Given the description of an element on the screen output the (x, y) to click on. 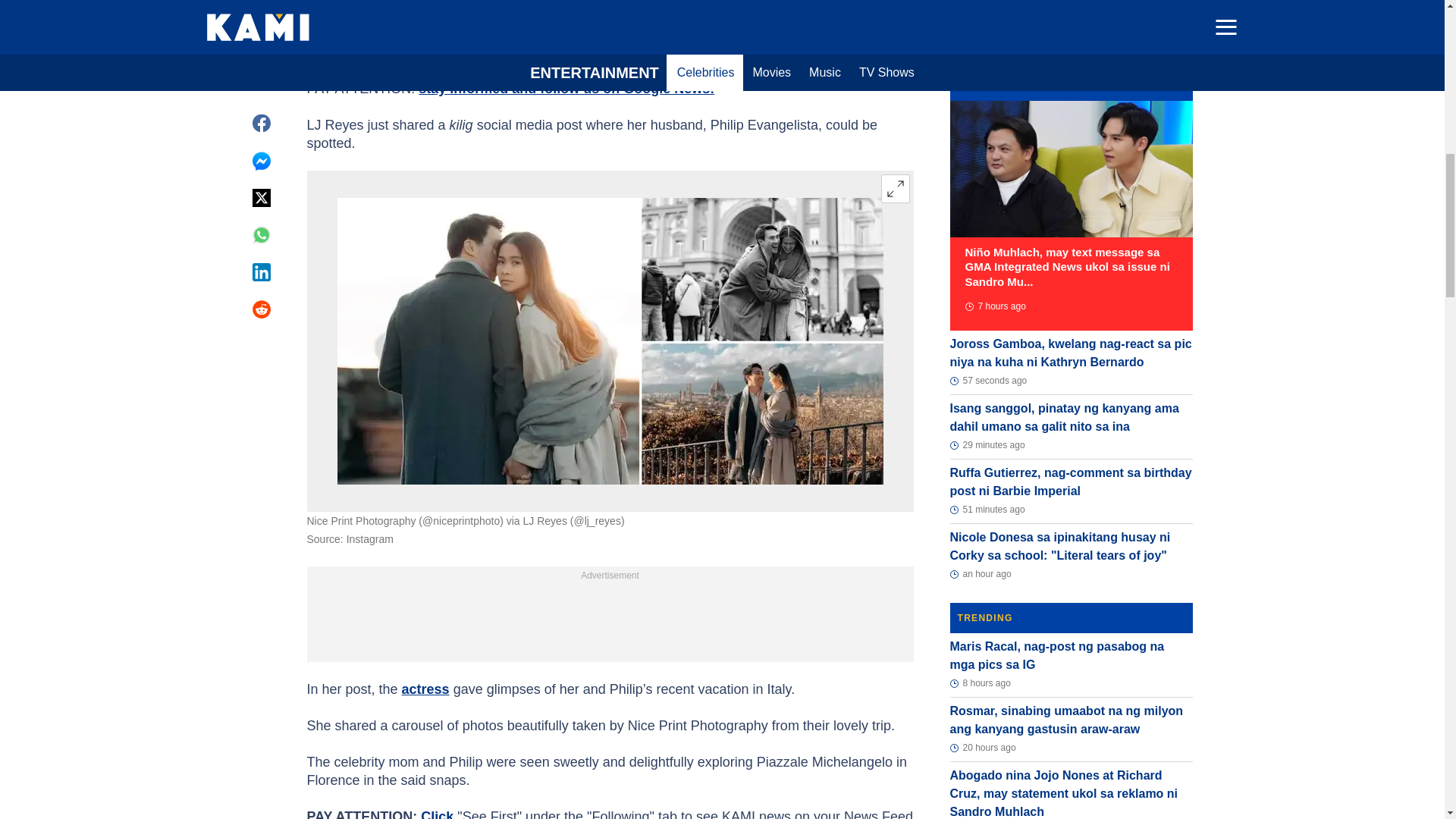
Expand image (895, 188)
